Given the description of an element on the screen output the (x, y) to click on. 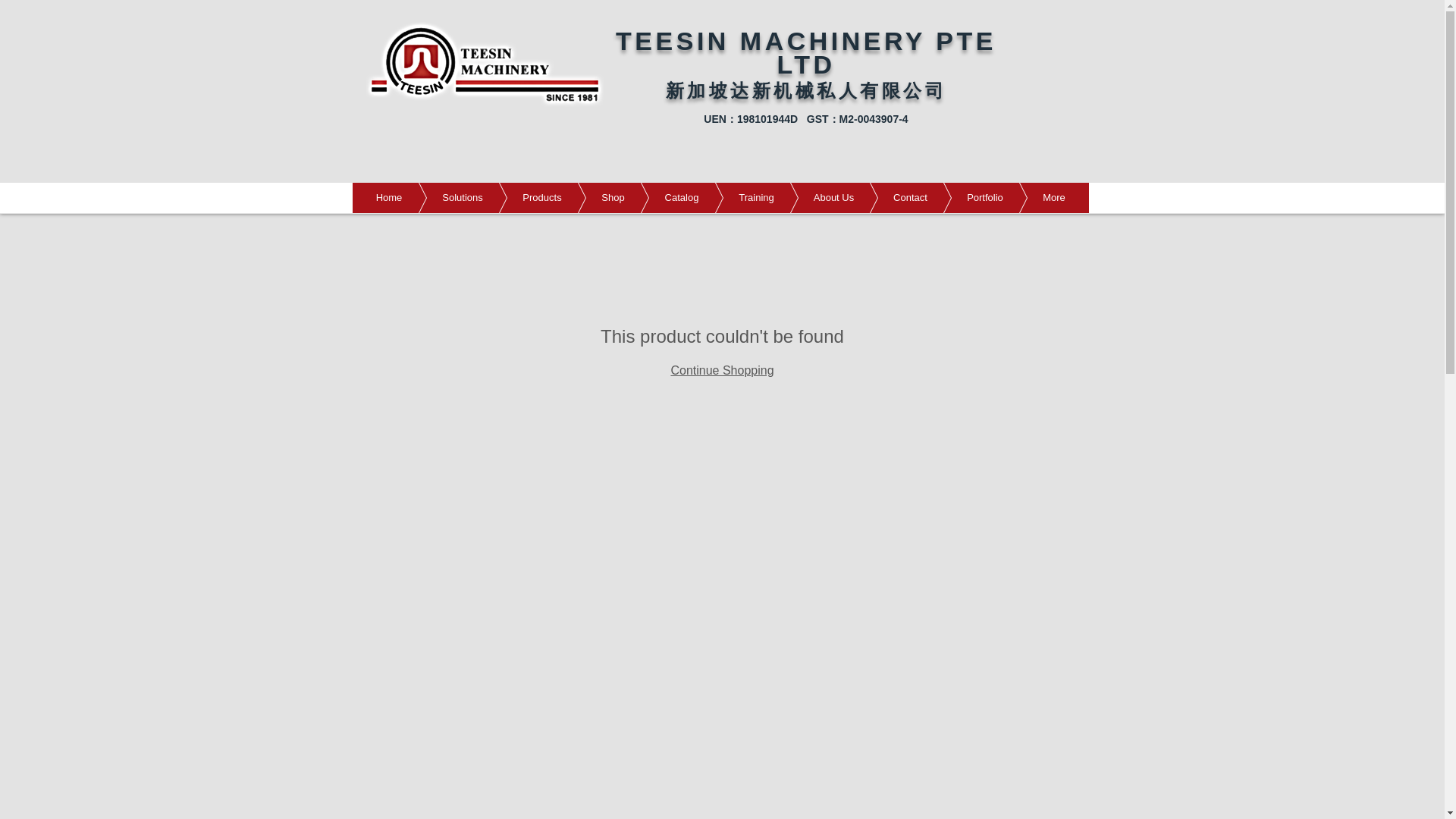
TEESIN MACHINERY PTE LTD (805, 52)
Training (733, 197)
Catalog (658, 197)
Shop (589, 197)
Home (388, 197)
Solutions (438, 197)
Products (518, 197)
